Given the description of an element on the screen output the (x, y) to click on. 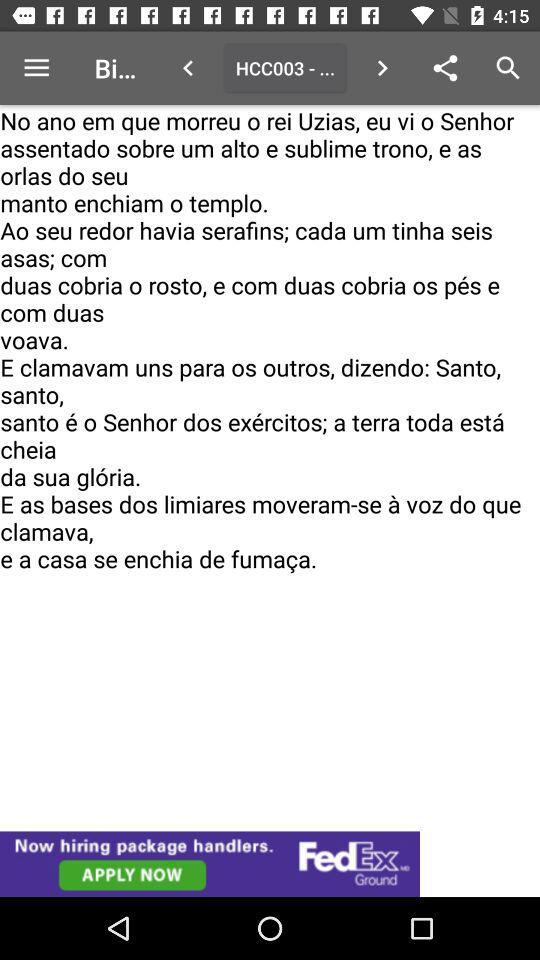
try this website (270, 864)
